Given the description of an element on the screen output the (x, y) to click on. 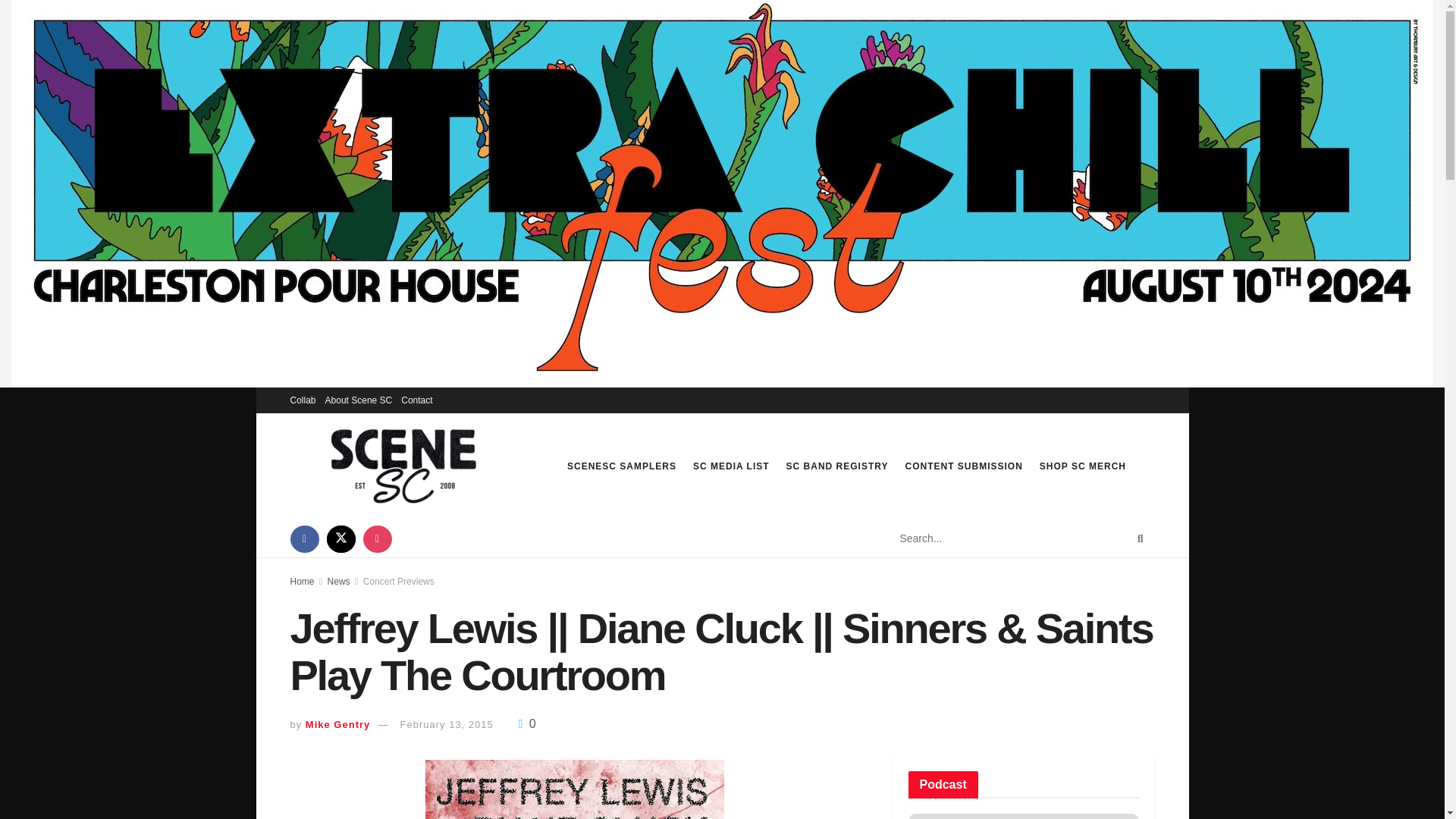
SC BAND REGISTRY (837, 466)
Concert Previews (397, 581)
Home (301, 581)
About Scene SC (358, 400)
Mike Gentry (337, 724)
CONTENT SUBMISSION (964, 466)
Collab (302, 400)
SHOP SC MERCH (1082, 466)
SCENESC SAMPLERS (622, 466)
Contact (416, 400)
SC MEDIA LIST (731, 466)
February 13, 2015 (446, 724)
0 (526, 723)
News (338, 581)
